Given the description of an element on the screen output the (x, y) to click on. 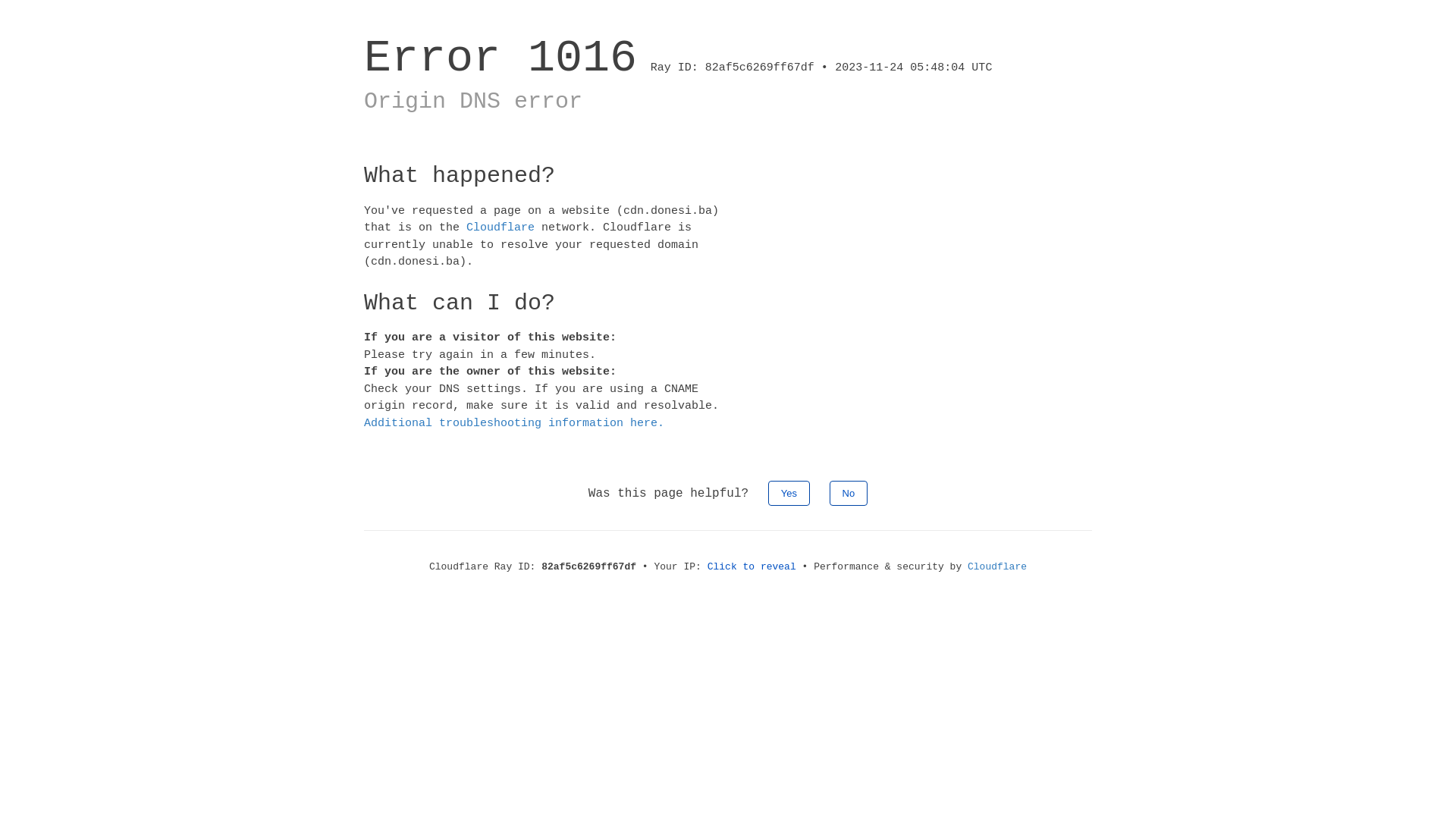
Yes Element type: text (788, 492)
Additional troubleshooting information here. Element type: text (514, 423)
No Element type: text (848, 492)
Cloudflare Element type: text (500, 227)
Cloudflare Element type: text (996, 566)
Click to reveal Element type: text (751, 566)
